Given the description of an element on the screen output the (x, y) to click on. 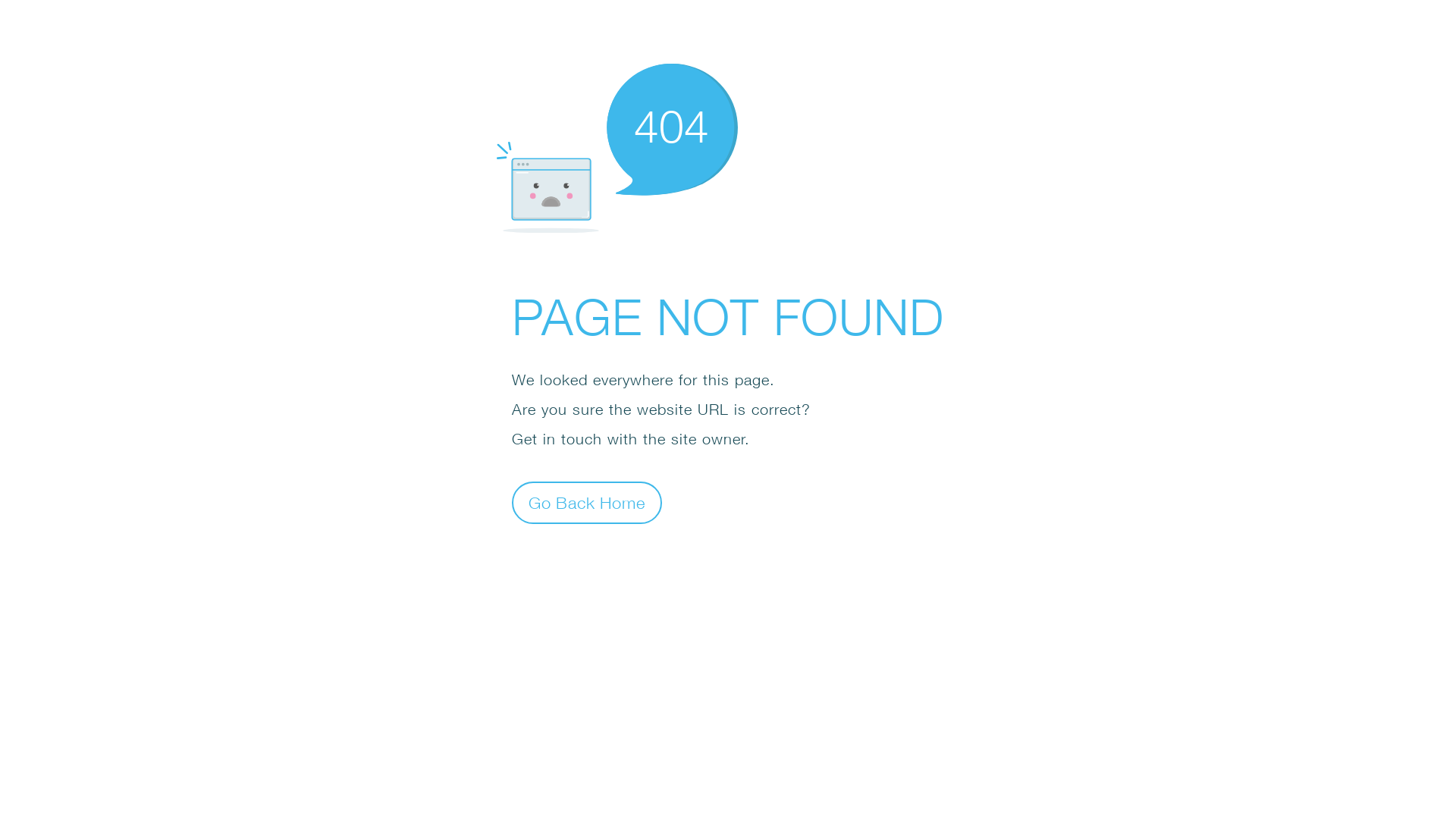
Go Back Home Element type: text (586, 502)
